Given the description of an element on the screen output the (x, y) to click on. 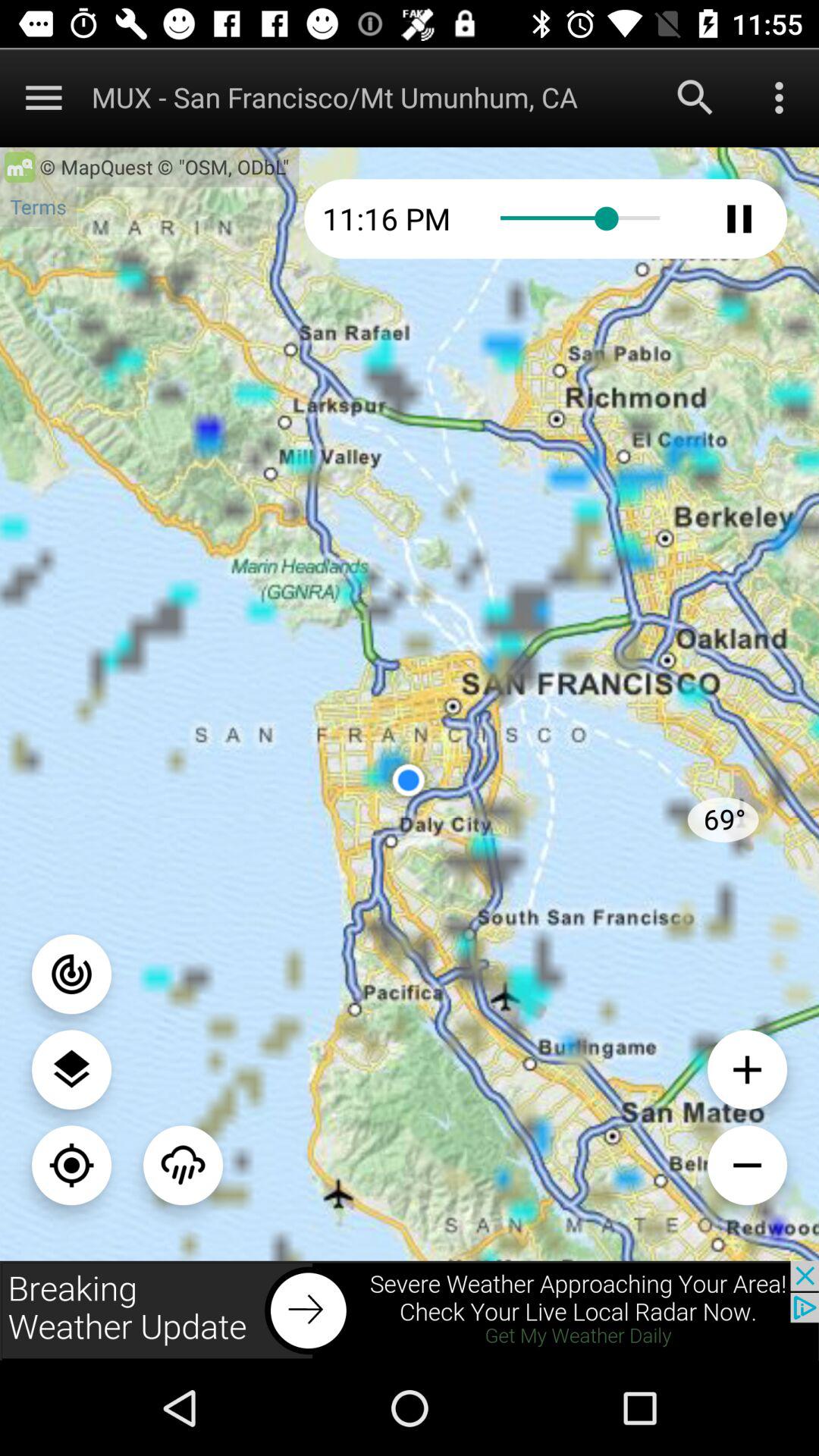
search command (695, 97)
